Given the description of an element on the screen output the (x, y) to click on. 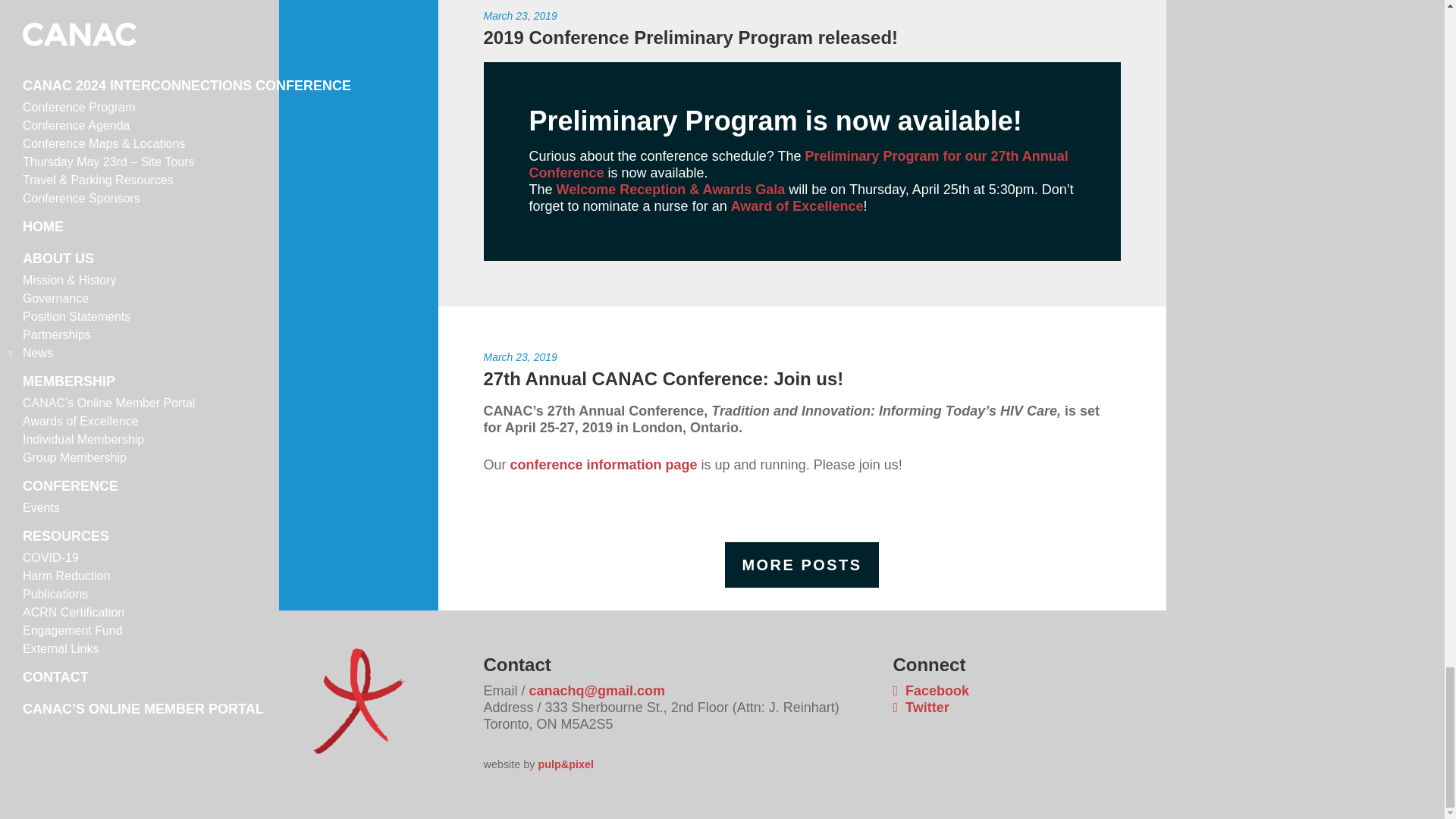
Page 2 (802, 181)
